Given the description of an element on the screen output the (x, y) to click on. 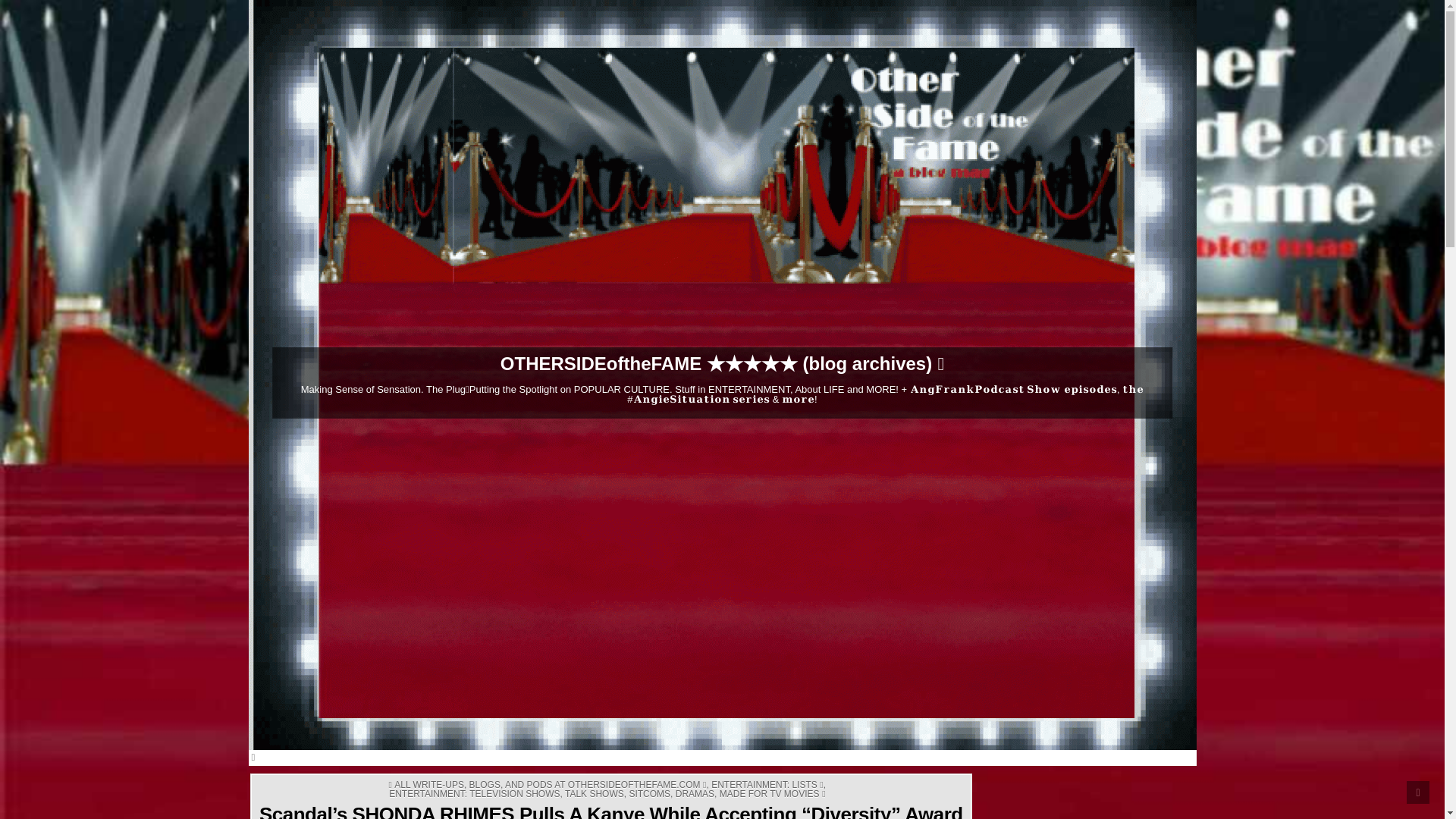
ENTERTAINMENT: LISTS (767, 784)
SCROLL TO TOP (1417, 792)
SCROLL TO TOP (1417, 792)
ALL WRITE-UPS, BLOGS, AND PODS AT OTHERSIDEOFTHEFAME.COM (550, 784)
